Given the description of an element on the screen output the (x, y) to click on. 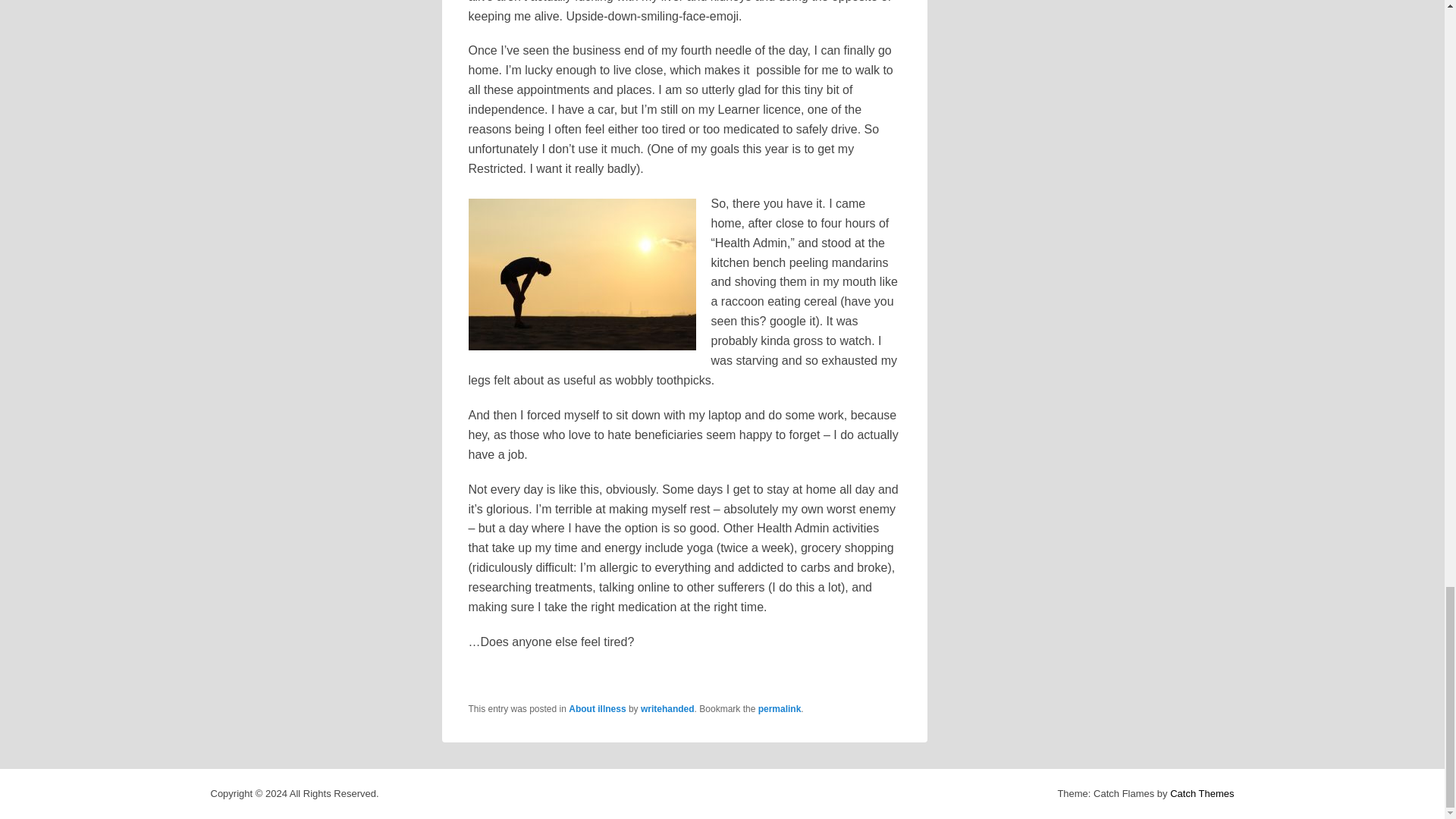
Permalink to A Day In The Life (780, 708)
Catch Themes (1201, 793)
About illness (597, 708)
permalink (780, 708)
writehanded (667, 708)
Catch Themes (1201, 793)
